Given the description of an element on the screen output the (x, y) to click on. 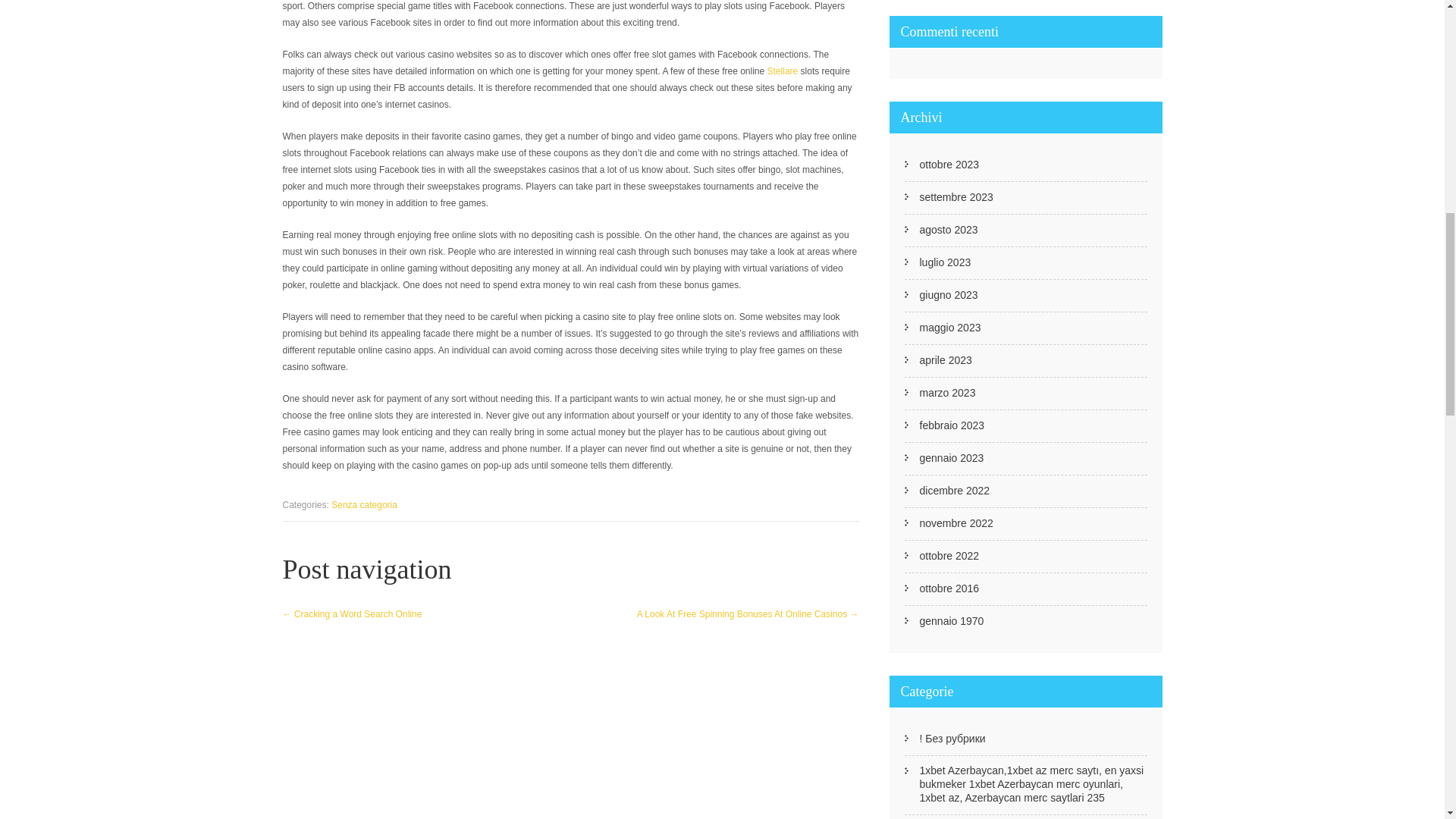
giugno 2023 (947, 295)
novembre 2022 (955, 522)
gennaio 2023 (951, 458)
ottobre 2016 (948, 588)
febbraio 2023 (951, 425)
ottobre 2023 (948, 164)
settembre 2023 (955, 196)
ottobre 2022 (948, 555)
Stellare (782, 71)
aprile 2023 (944, 359)
dicembre 2022 (954, 490)
luglio 2023 (944, 262)
gennaio 1970 (951, 621)
View all posts in Senza categoria (364, 504)
agosto 2023 (947, 229)
